Given the description of an element on the screen output the (x, y) to click on. 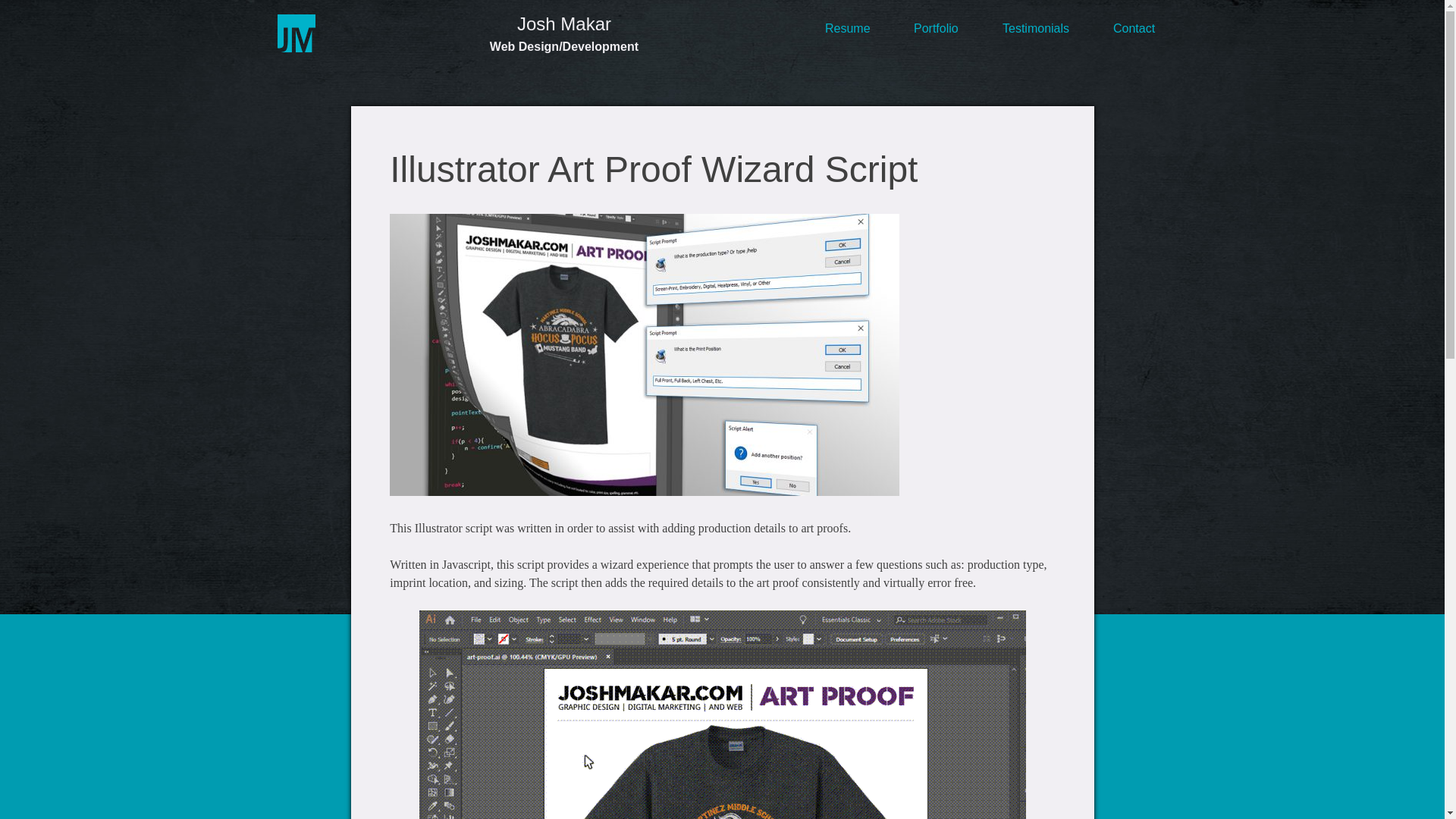
Josh Makar (563, 23)
Resume (847, 28)
Portfolio (936, 28)
Testimonials (1035, 28)
Contact (1133, 28)
